Given the description of an element on the screen output the (x, y) to click on. 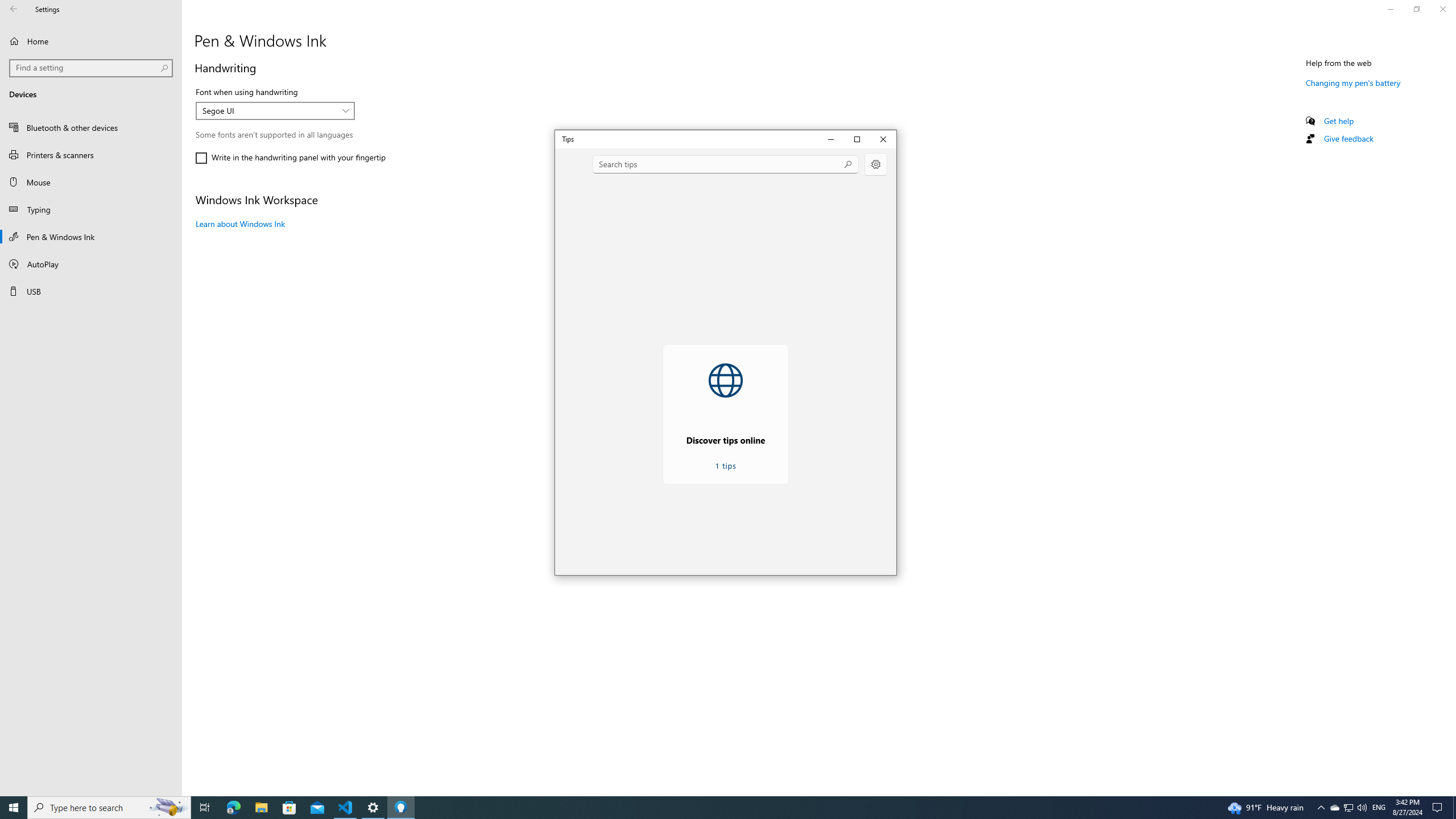
User Promoted Notification Area (1347, 807)
Microsoft Store (289, 807)
Discover tips online, View 1 tips. (725, 413)
Settings (875, 164)
Minimize Tips (831, 139)
Q2790: 100% (1361, 807)
Show desktop (1454, 807)
Running applications (706, 807)
Close Tips (883, 139)
Type here to search (108, 807)
Task View (204, 807)
Search tips (725, 164)
